Given the description of an element on the screen output the (x, y) to click on. 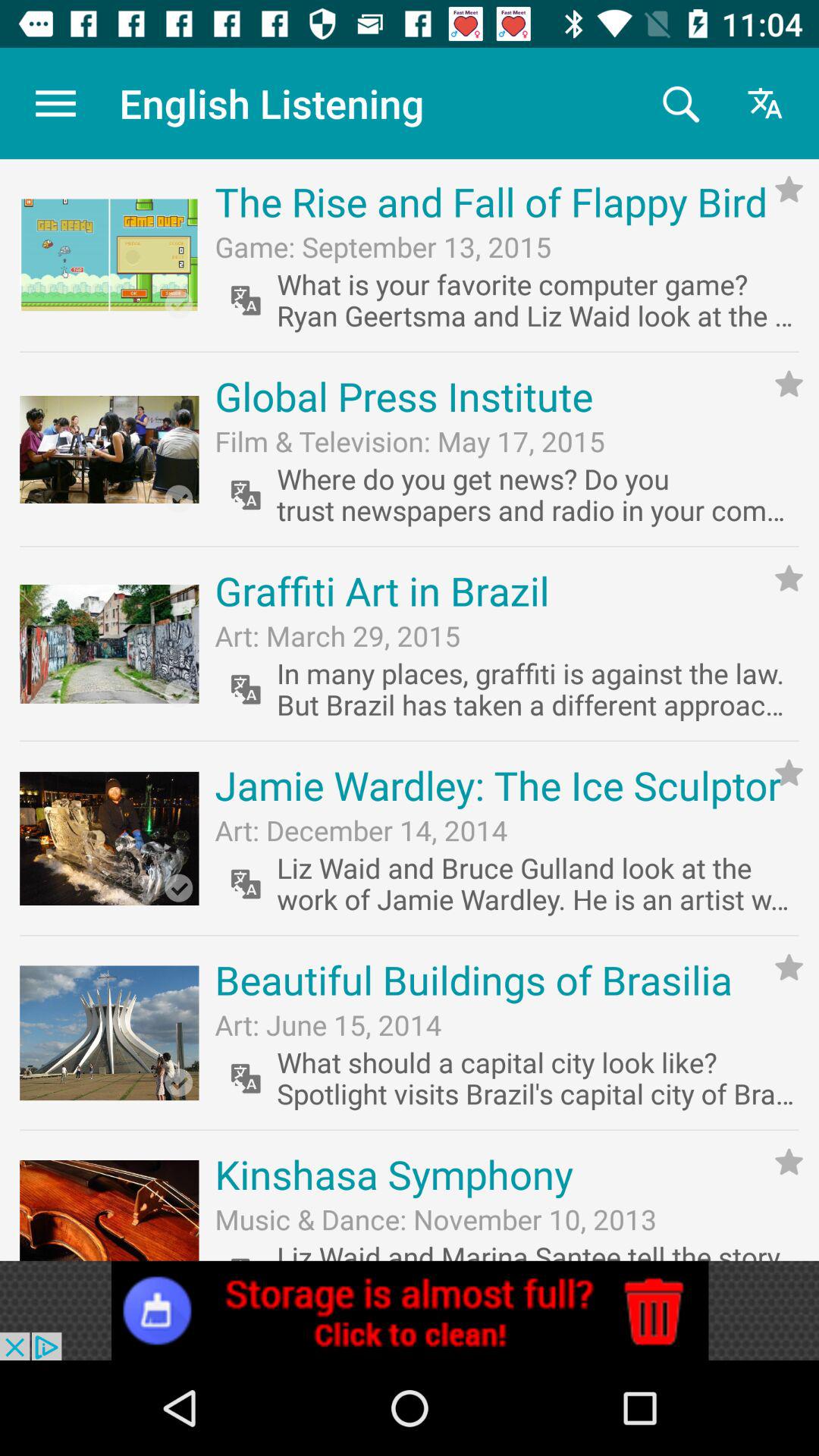
advertisement (409, 1310)
